Given the description of an element on the screen output the (x, y) to click on. 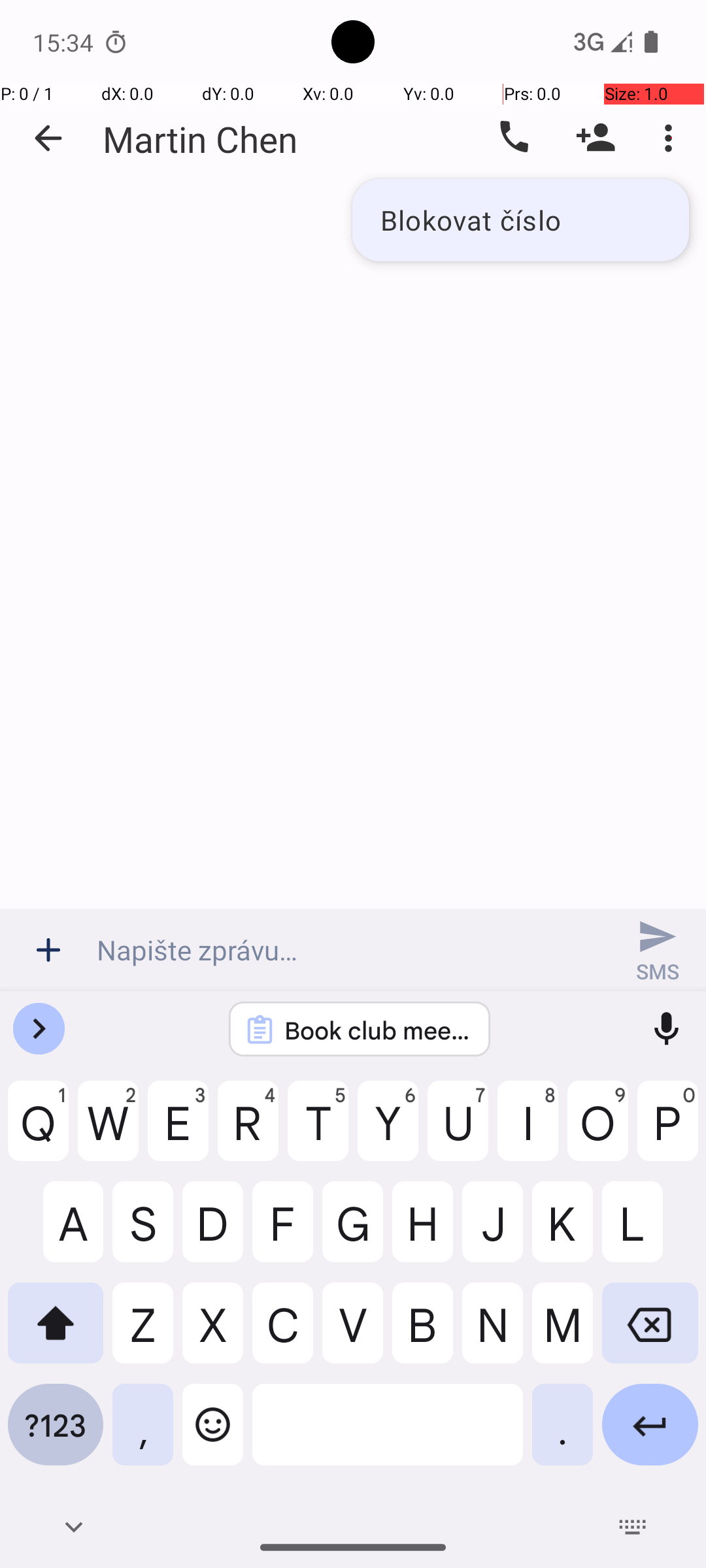
Blokovat číslo Element type: android.widget.TextView (520, 219)
